Given the description of an element on the screen output the (x, y) to click on. 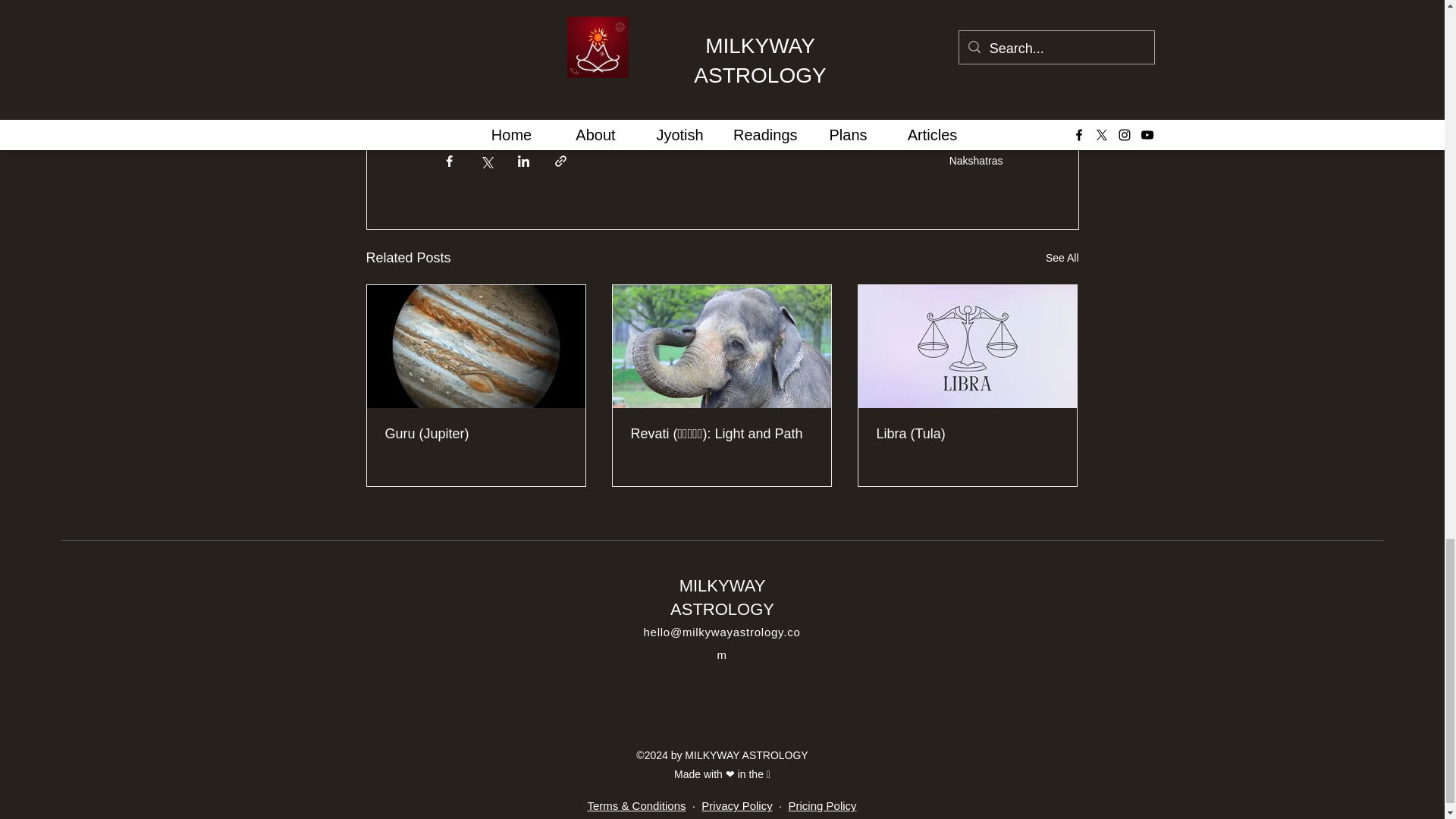
Back (456, 30)
Jupiter (465, 104)
Next (454, 10)
